Given the description of an element on the screen output the (x, y) to click on. 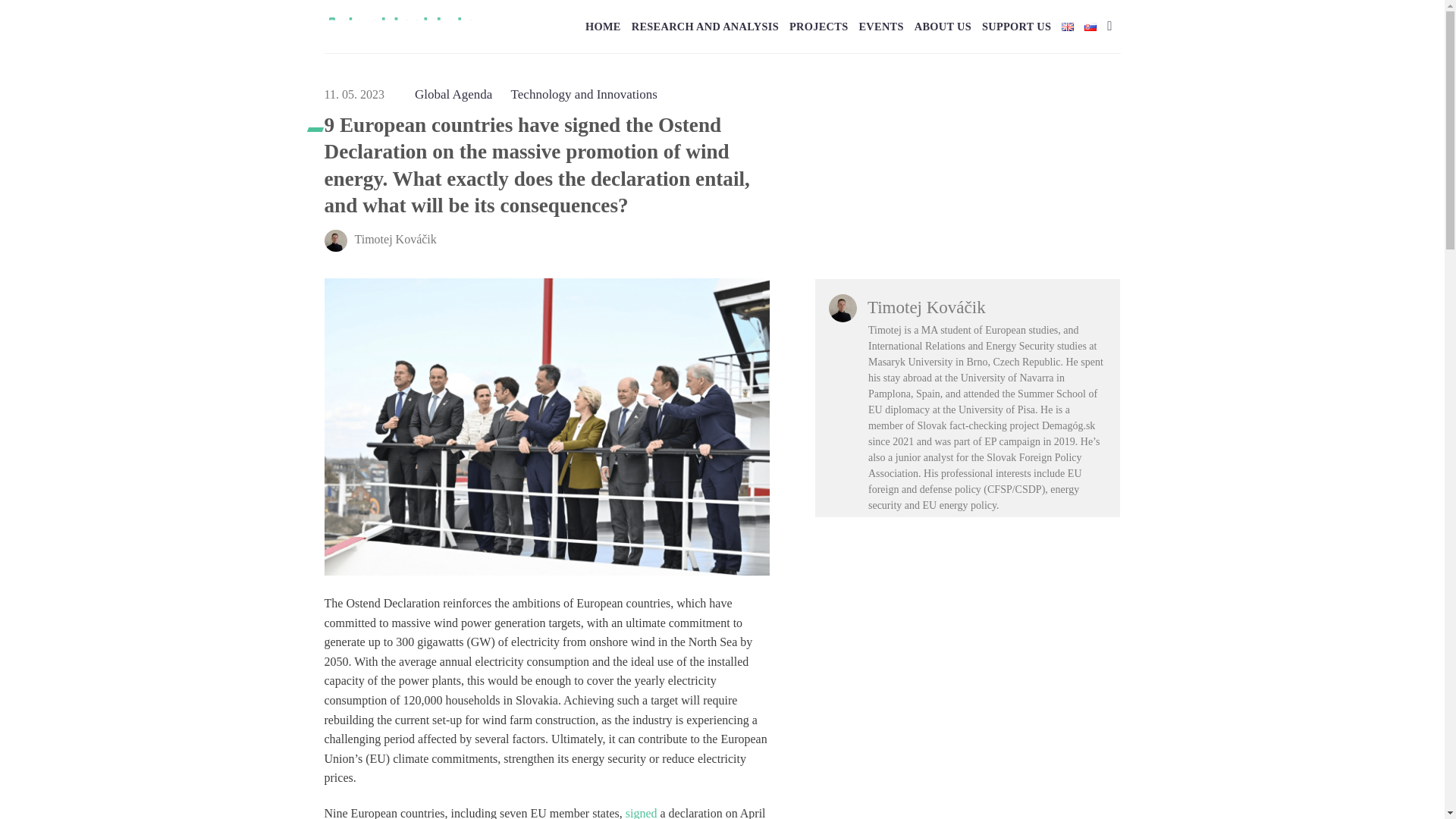
PROJECTS (818, 26)
signed (642, 812)
ABOUT US (942, 26)
HOME (603, 26)
EVENTS (880, 26)
RESEARCH AND ANALYSIS (704, 26)
Adapt Institute - Designing a secure future (400, 25)
SUPPORT US (1016, 26)
